Given the description of an element on the screen output the (x, y) to click on. 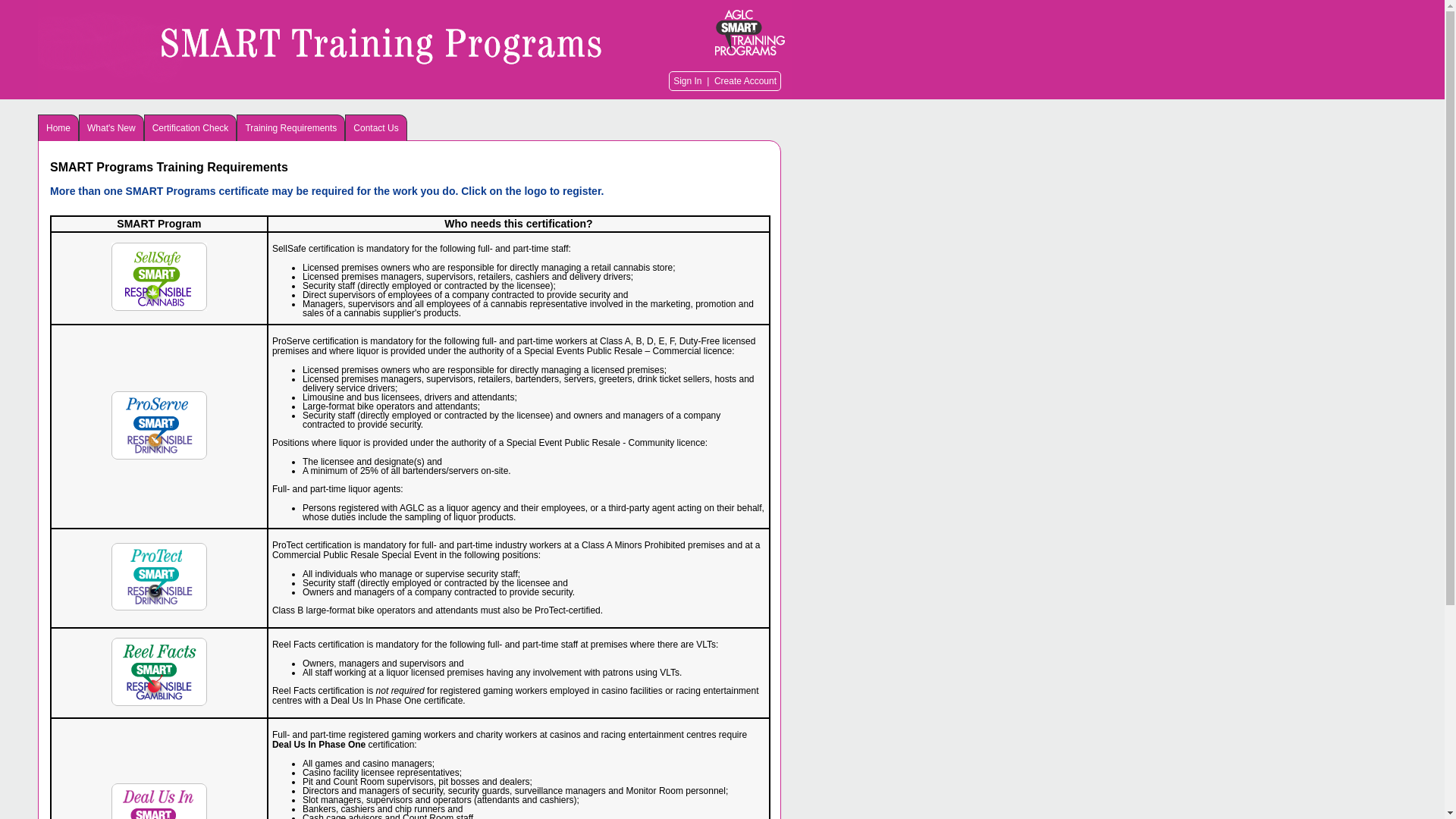
Training Requirements Element type: text (290, 127)
Certification Check Element type: text (190, 127)
Home Element type: text (57, 127)
What's New Element type: text (111, 127)
Contact Us Element type: text (375, 127)
Create Account Element type: text (745, 80)
Sign In Element type: text (687, 80)
